Given the description of an element on the screen output the (x, y) to click on. 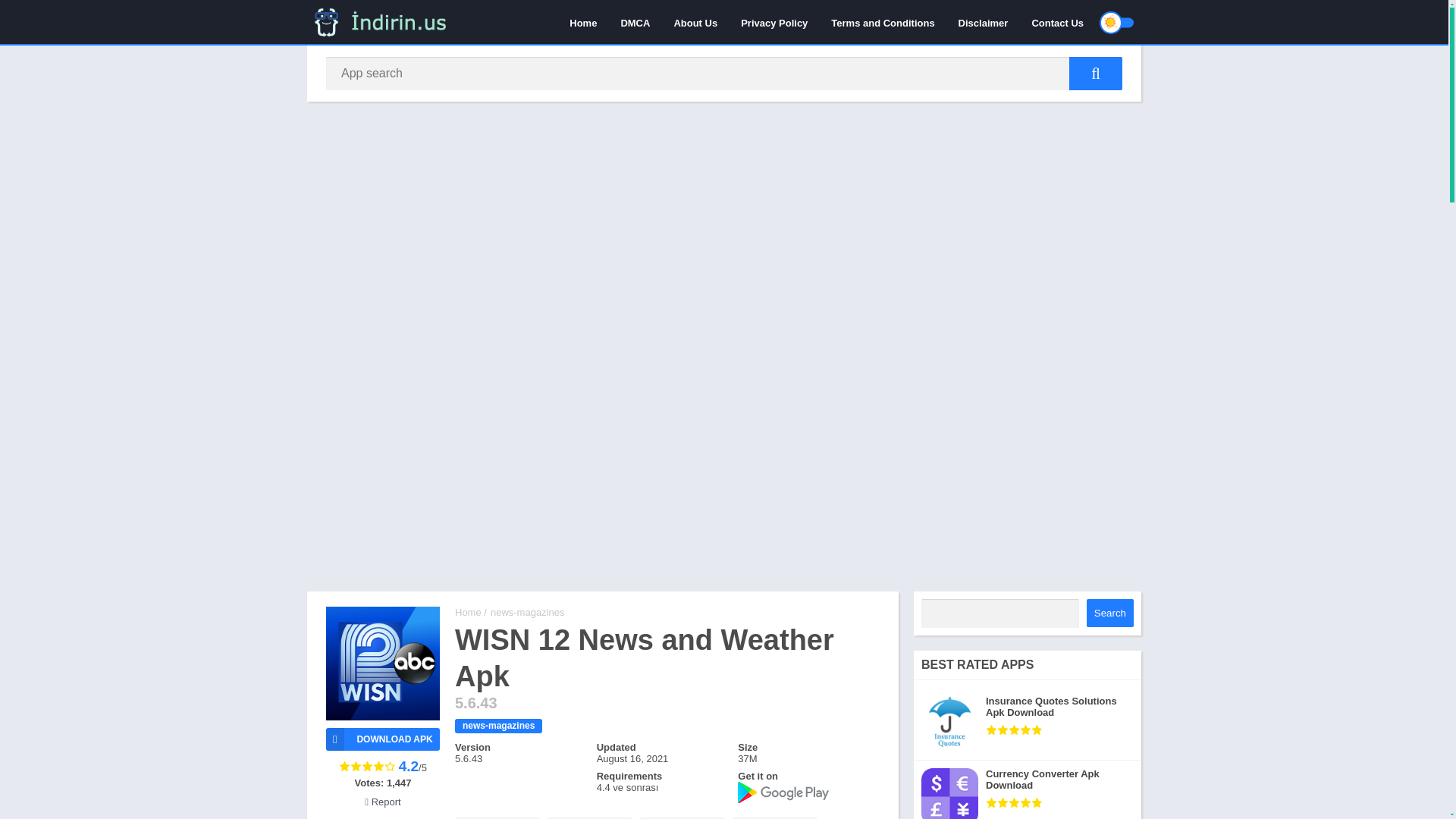
Contact Us (1057, 22)
Home (467, 612)
App search (1095, 73)
Home (582, 22)
Terms and Conditions (881, 22)
Telegram (774, 818)
Disclaimer (983, 22)
Twitter (589, 818)
DMCA (634, 22)
Report (382, 801)
DOWNLOAD APK (382, 739)
Pinterest (682, 818)
About Us (695, 22)
Privacy Policy (773, 22)
news-magazines (497, 726)
